Given the description of an element on the screen output the (x, y) to click on. 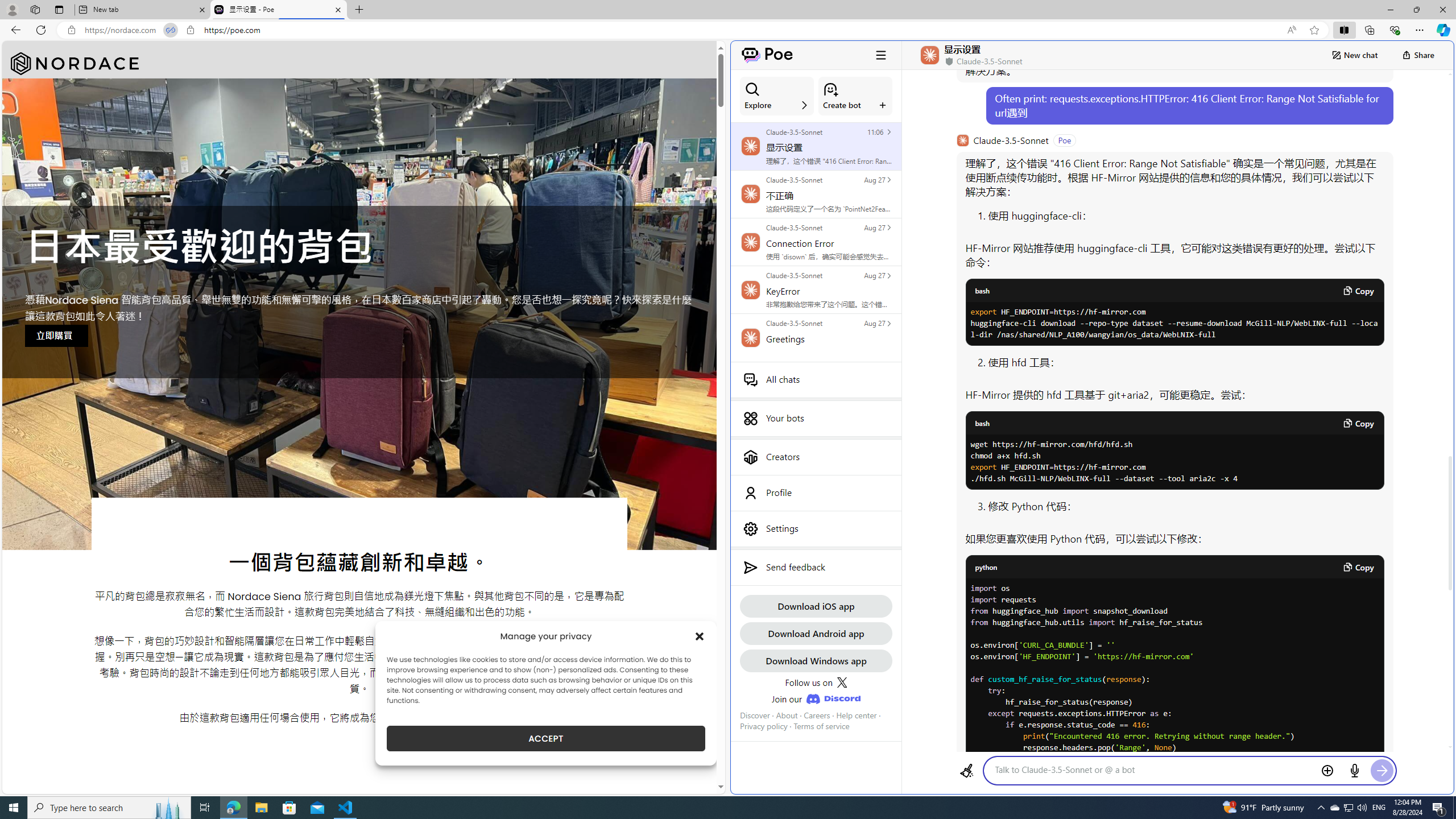
Bot image for Claude-3.5-Sonnet (962, 140)
Class: ManageBotsCardSection_labelIcon__EjW_j (882, 104)
Download iOS app (815, 605)
Share (1417, 54)
Poe (766, 55)
Explore (776, 95)
Class: ChatHistoryListItem_chevronIcon__zJZSN (888, 322)
Class: ManageBotsCardSection_searchIcon__laGLi (752, 89)
New chat (1353, 54)
Creators (815, 456)
